Given the description of an element on the screen output the (x, y) to click on. 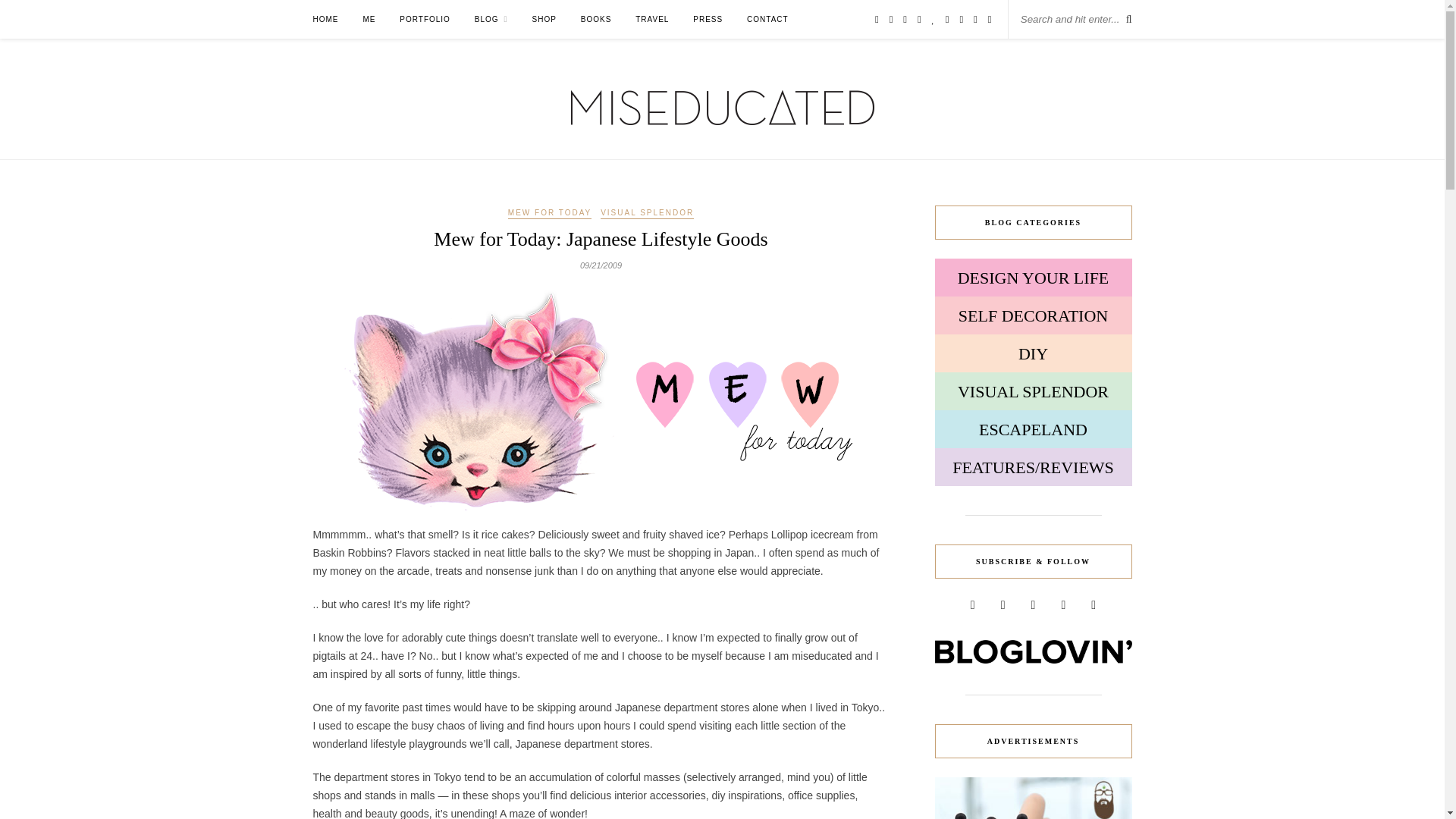
PORTFOLIO (423, 19)
CONTACT (767, 19)
View all posts in Mew for Today (549, 213)
View all posts in Visual Splendor (646, 213)
